Given the description of an element on the screen output the (x, y) to click on. 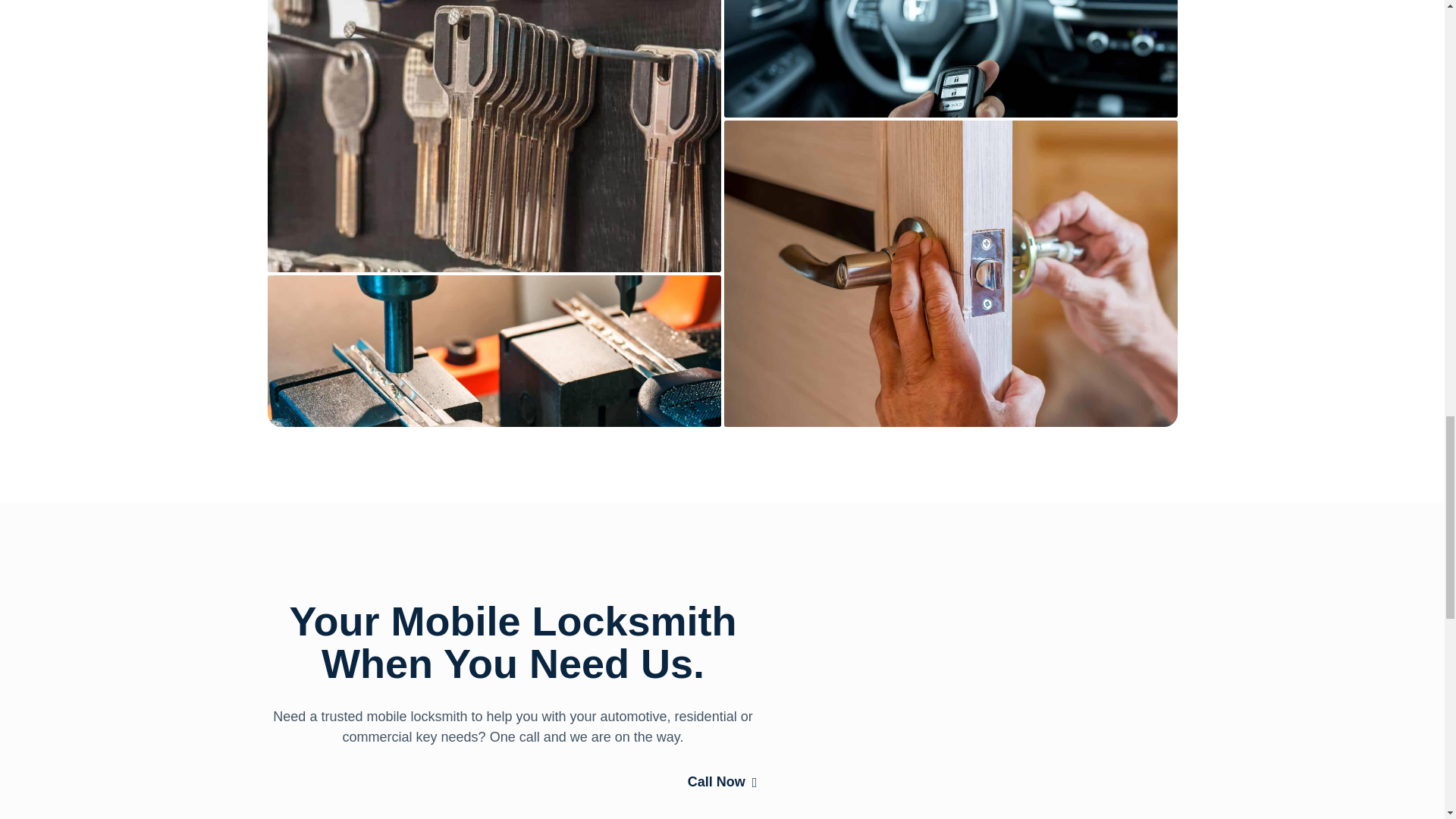
Call Now (722, 783)
